Given the description of an element on the screen output the (x, y) to click on. 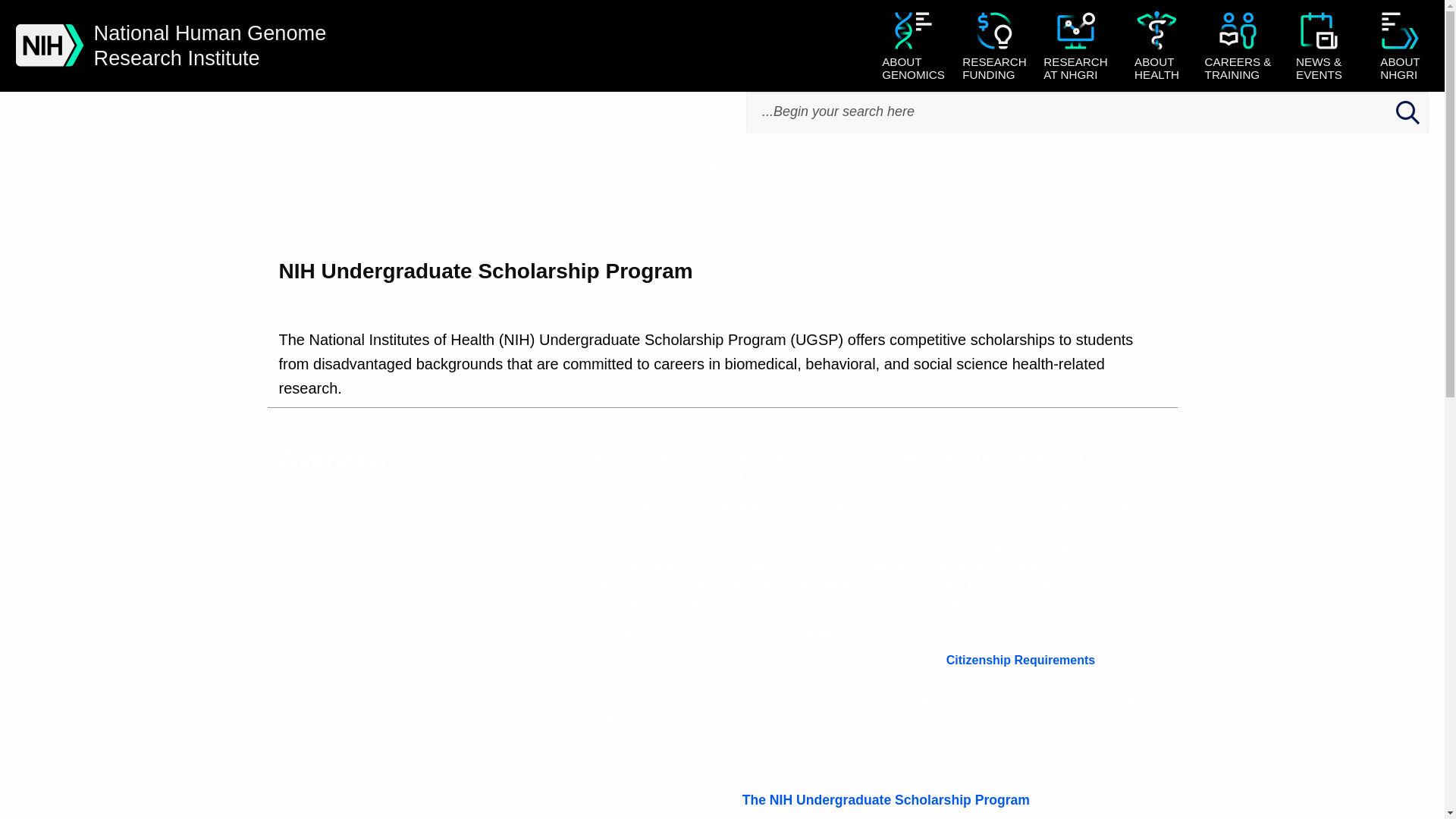
enter the terms you wish to search for (1156, 47)
Skip to main content (1075, 47)
